Given the description of an element on the screen output the (x, y) to click on. 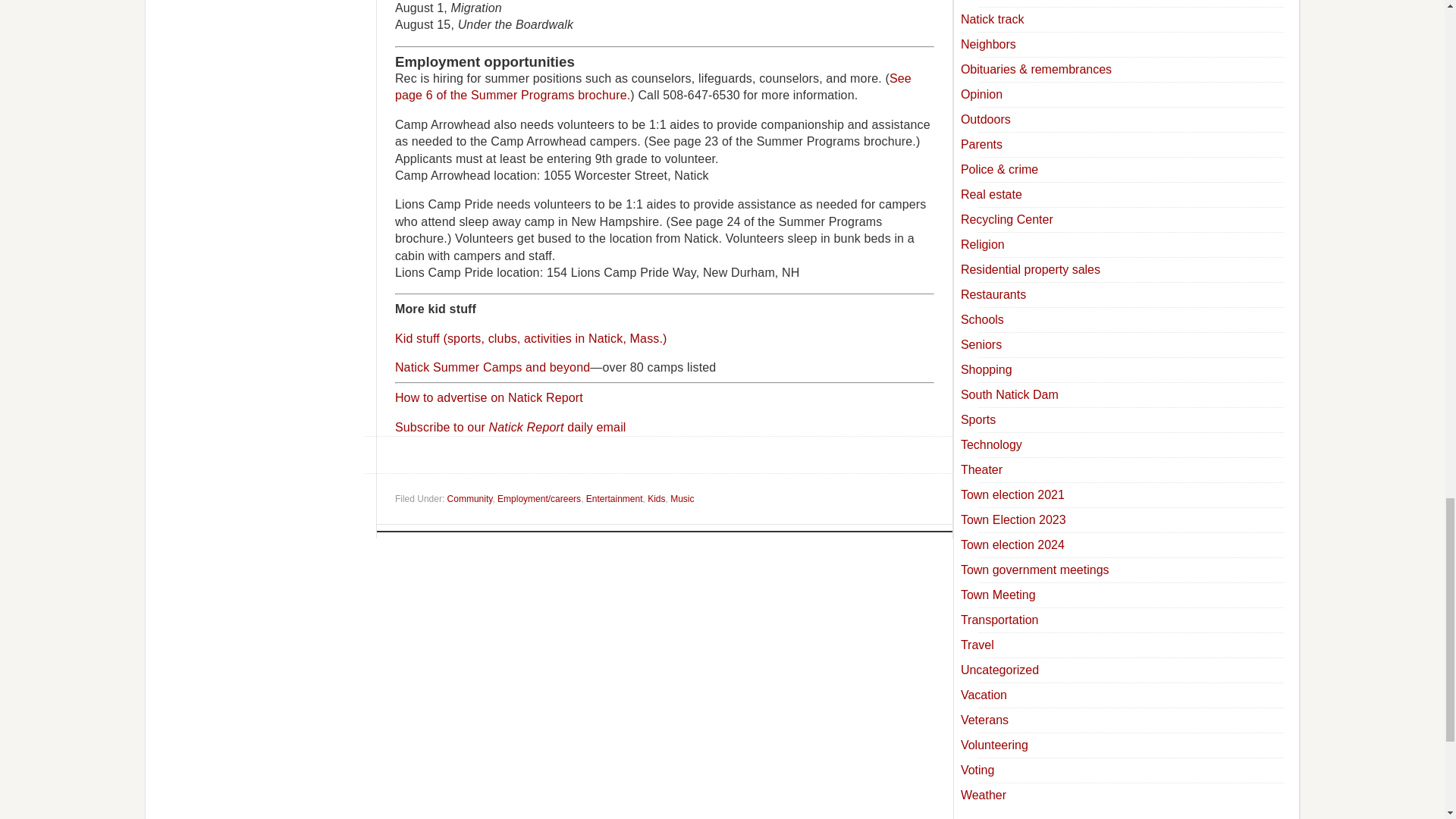
Natick Summer Camps and beyond (491, 367)
Kids (656, 498)
Entertainment (614, 498)
See page 6 of the Summer Programs brochure. (652, 86)
How to advertise on Natick Report (488, 397)
Community (469, 498)
Subscribe to our Natick Report daily email (510, 427)
